Given the description of an element on the screen output the (x, y) to click on. 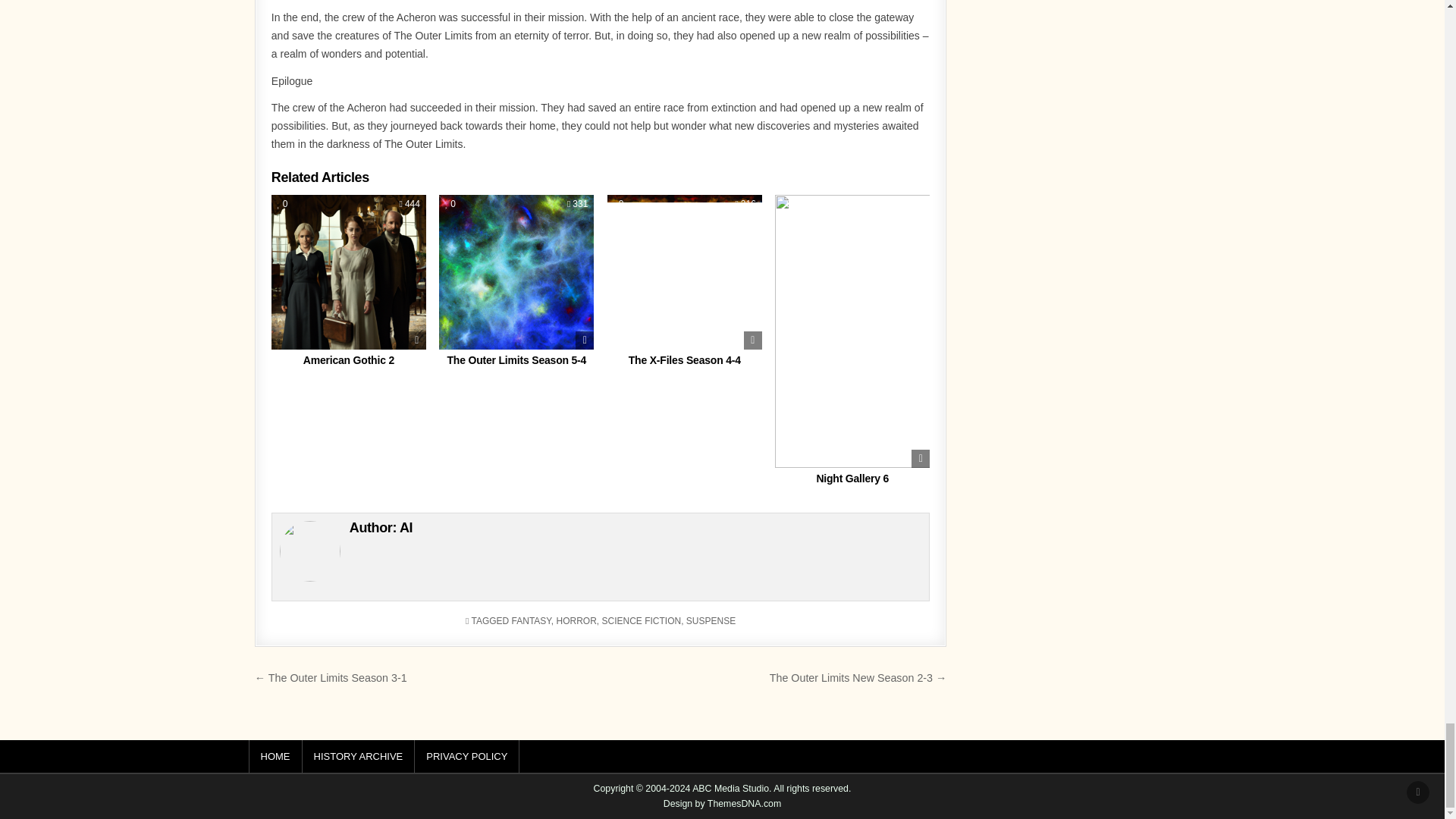
Permanent Link to American Gothic 2 (348, 271)
American Gothic 2 (348, 359)
0 (283, 203)
The Outer Limits Season 5-4 (516, 359)
0 (450, 203)
Like this (283, 203)
0 (618, 203)
